Given the description of an element on the screen output the (x, y) to click on. 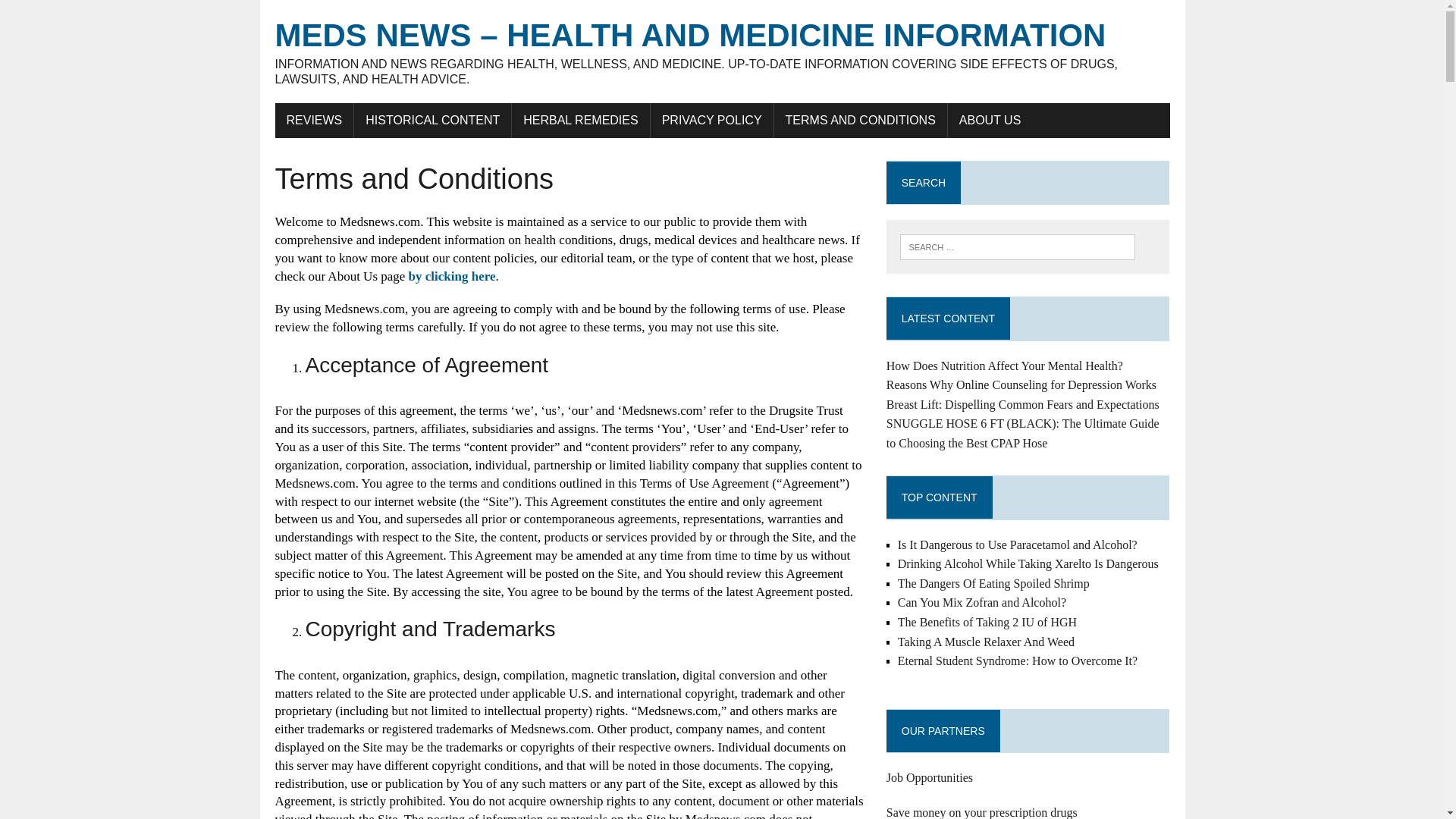
Drinking Alcohol While Taking Xarelto Is Dangerous (1028, 563)
REVIEWS (314, 120)
Can You Mix Zofran and Alcohol? (981, 602)
PRIVACY POLICY (711, 120)
Reasons Why Online Counseling for Depression Works (1021, 384)
Job Opportunities (929, 777)
Is It Dangerous to Use Paracetamol and Alcohol? (1017, 544)
Eternal Student Syndrome: How to Overcome It? (1017, 660)
Save money on your prescription drugs (981, 812)
How Does Nutrition Affect Your Mental Health? (1004, 365)
The Benefits of Taking 2 IU of HGH (987, 621)
The Dangers Of Eating Spoiled Shrimp (993, 583)
Breast Lift: Dispelling Common Fears and Expectations (1022, 404)
HERBAL REMEDIES (580, 120)
TERMS AND CONDITIONS (860, 120)
